Given the description of an element on the screen output the (x, y) to click on. 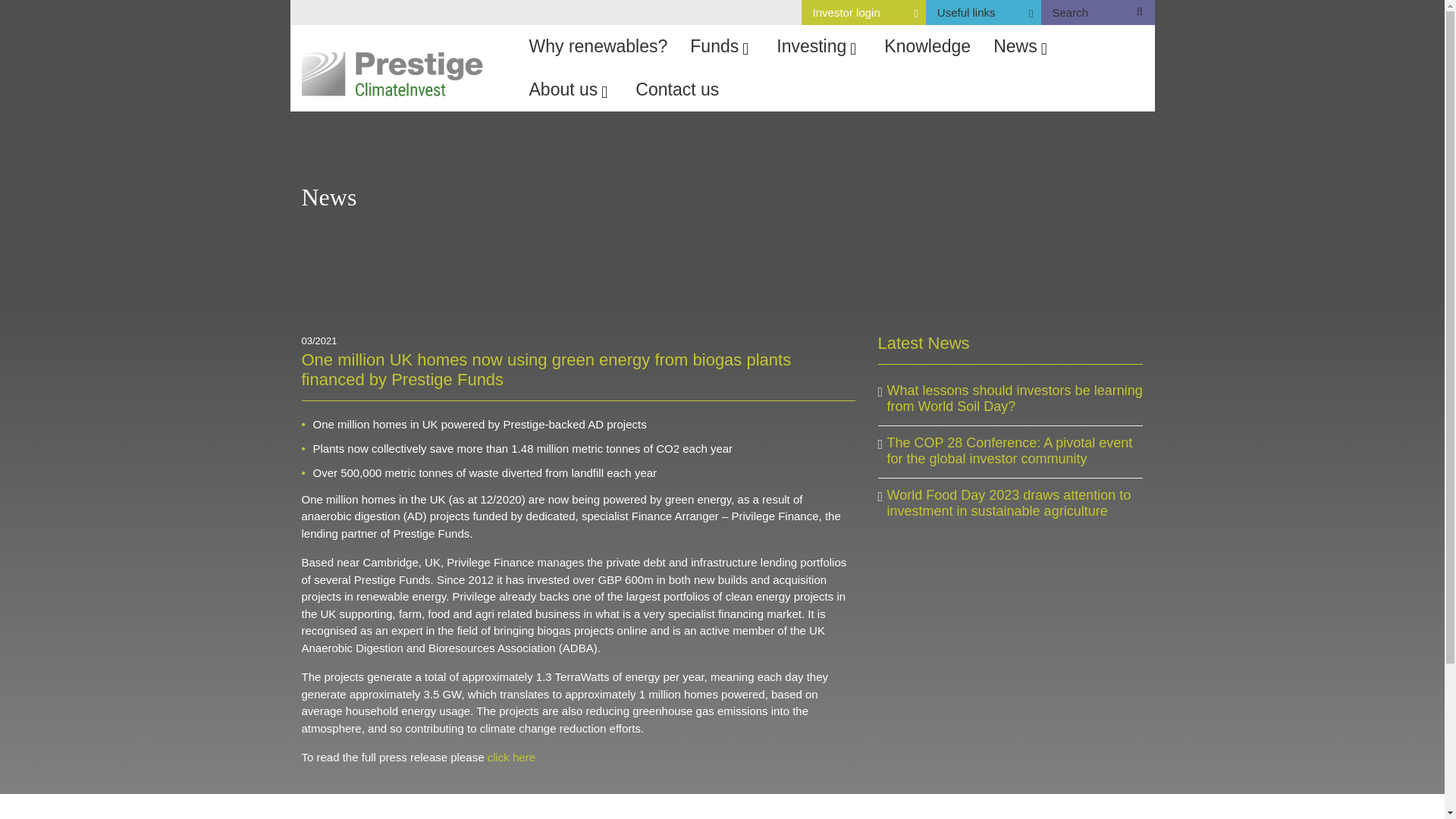
Log In (978, 12)
Investor login (840, 192)
Search (864, 12)
